Given the description of an element on the screen output the (x, y) to click on. 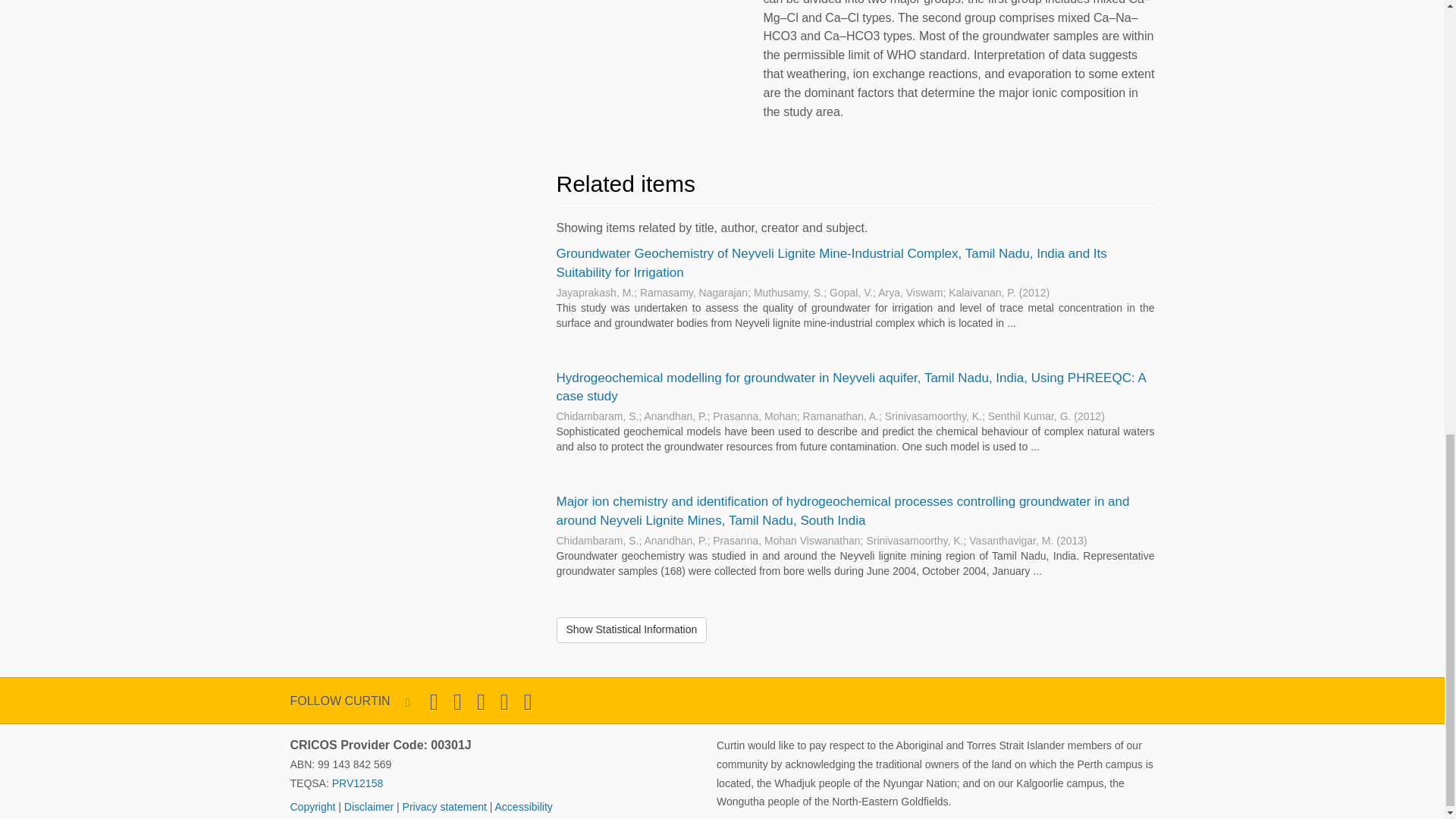
Show Statistical Information (631, 629)
